Given the description of an element on the screen output the (x, y) to click on. 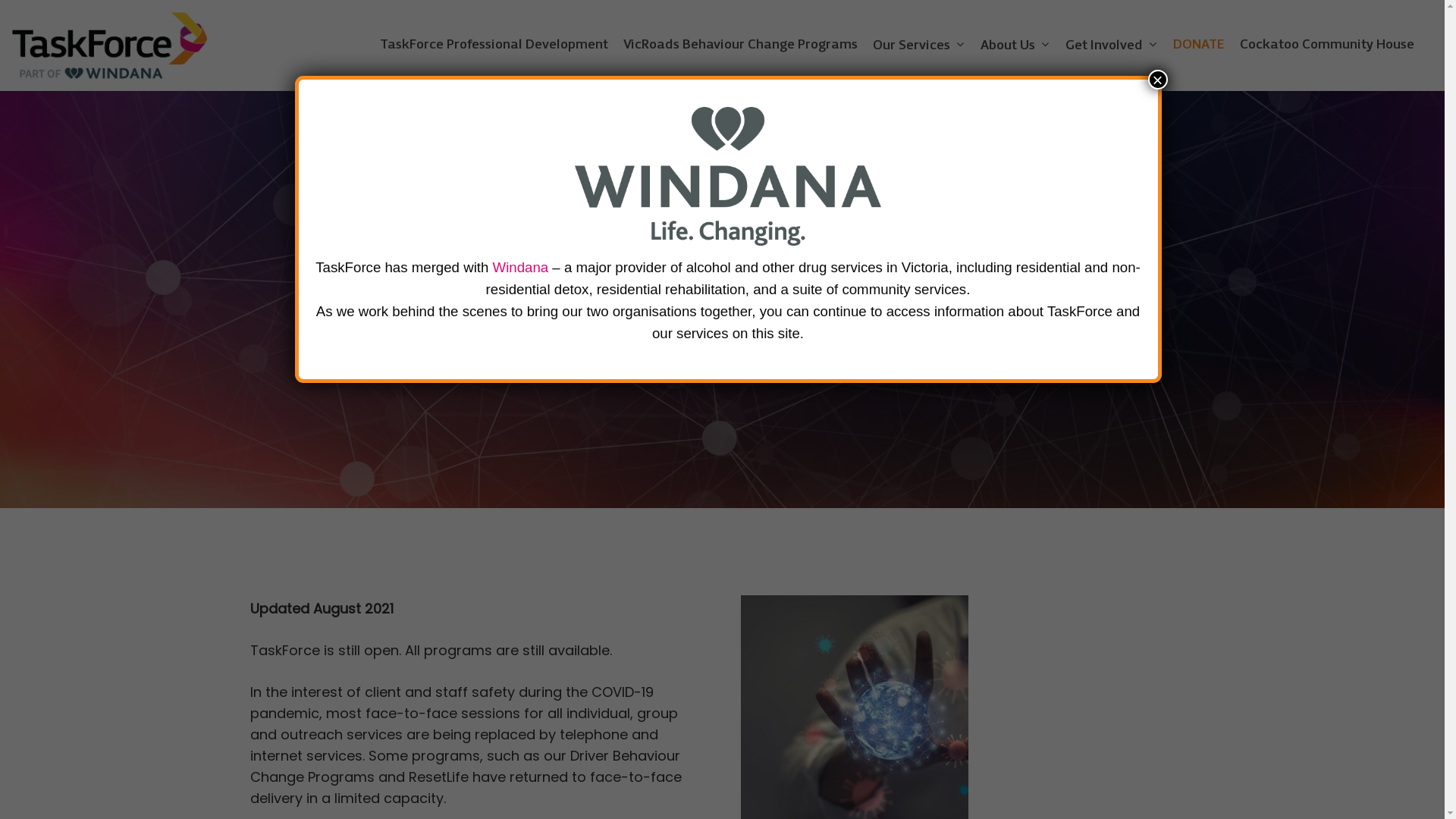
Windana Element type: text (520, 267)
Our Services Element type: text (918, 45)
News Element type: text (721, 261)
DONATE Element type: text (1198, 45)
Cockatoo Community House Element type: text (1326, 45)
Get Involved Element type: text (1111, 45)
TaskForce Professional Development Element type: text (493, 45)
VicRoads Behaviour Change Programs Element type: text (740, 45)
About Us Element type: text (1014, 45)
